Given the description of an element on the screen output the (x, y) to click on. 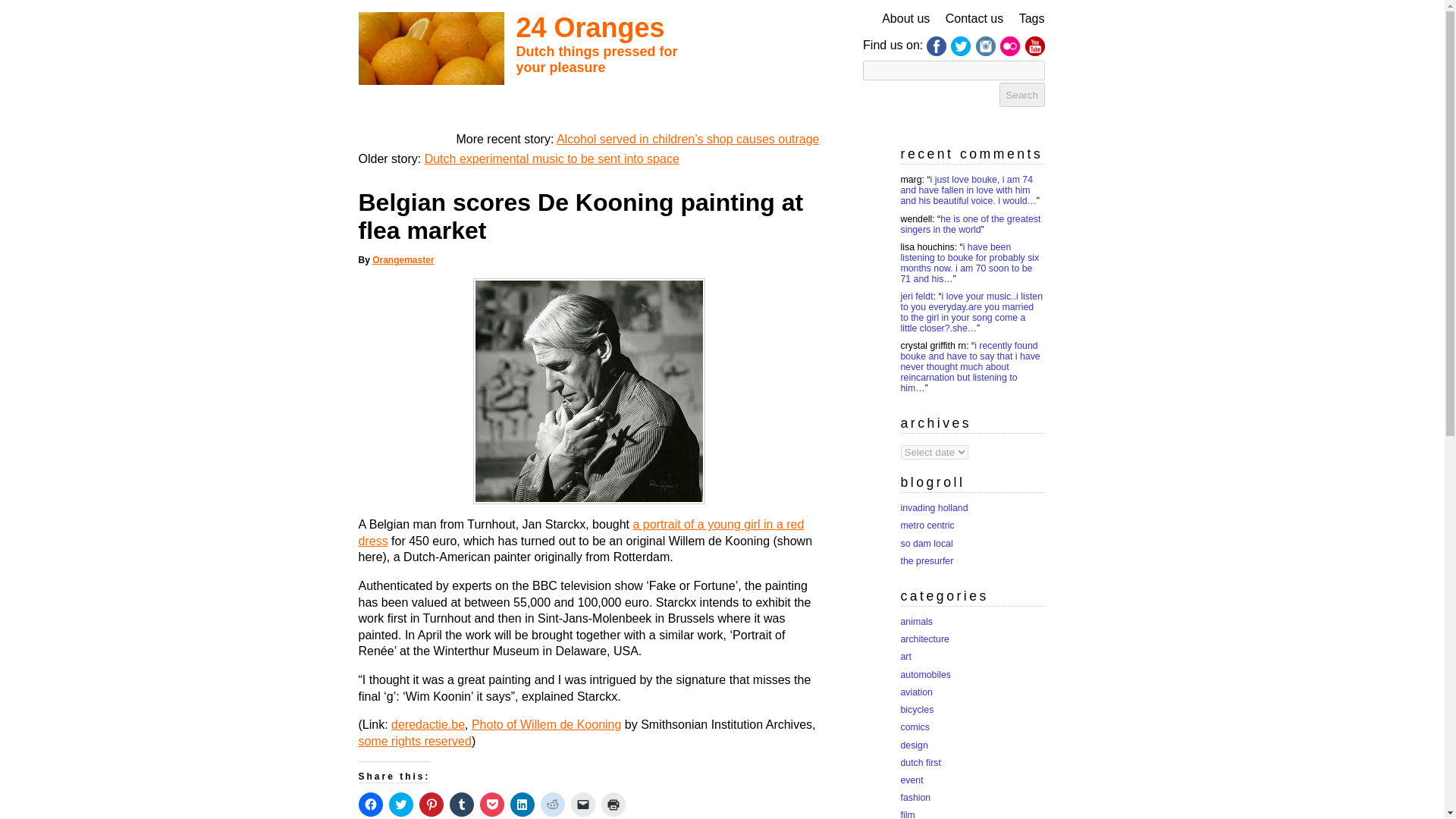
Search (1021, 94)
some rights reserved (414, 740)
Tags (1032, 18)
Photo of Willem de Kooning (546, 724)
Search (1021, 94)
Contact us (973, 18)
deredactie.be (427, 724)
Dutch experimental music to be sent into space (552, 158)
About us (906, 18)
Orangemaster (402, 259)
a portrait of a young girl in a red dress (580, 532)
24 Oranges (589, 27)
